Given the description of an element on the screen output the (x, y) to click on. 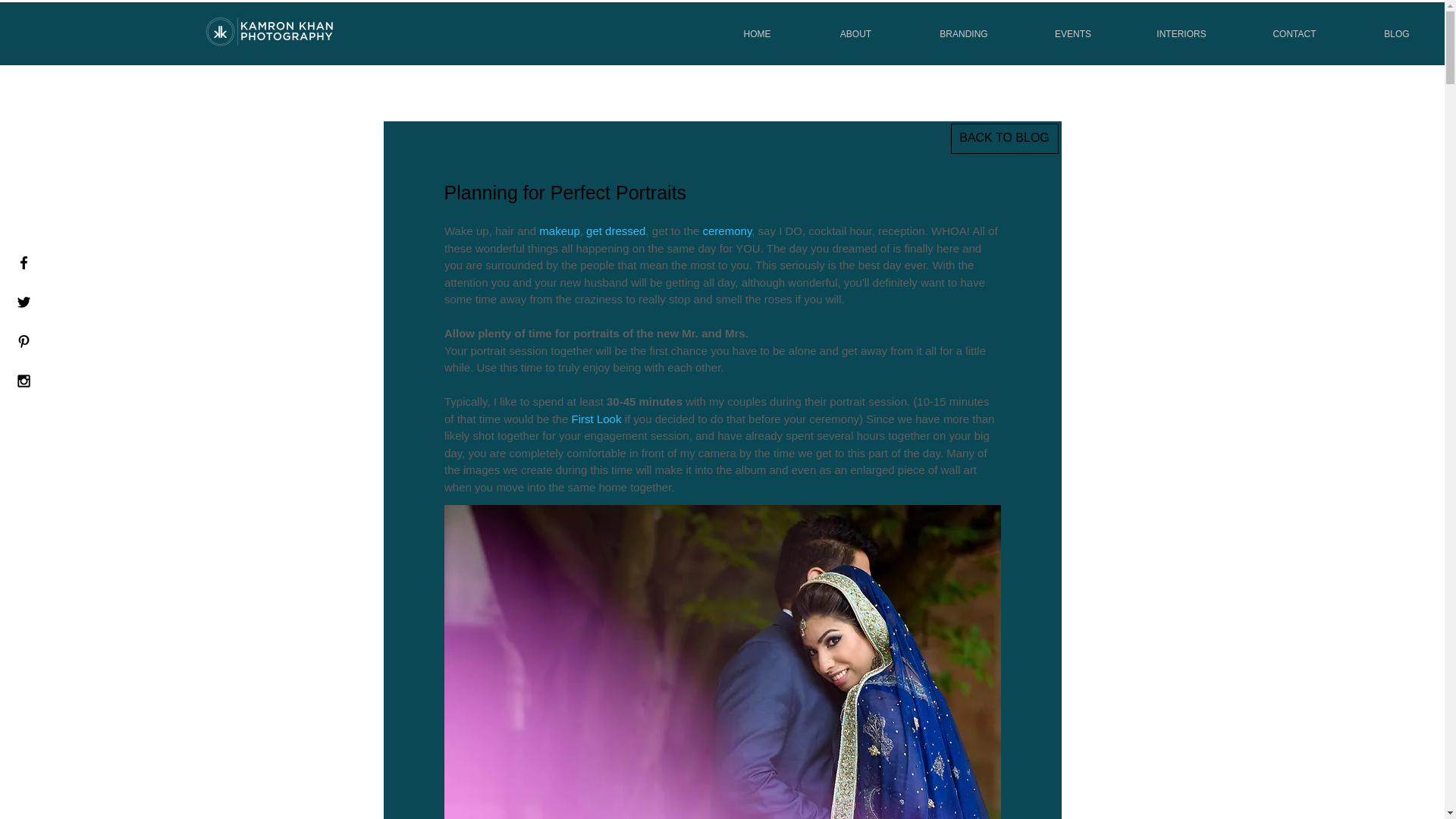
First Look (595, 418)
BRANDING (963, 33)
BACK TO BLOG (1004, 138)
EVENTS (1073, 33)
get dressed (615, 230)
ABOUT (855, 33)
Log In (1014, 29)
makeup (558, 230)
INTERIORS (1181, 33)
CONTACT (1295, 33)
